Given the description of an element on the screen output the (x, y) to click on. 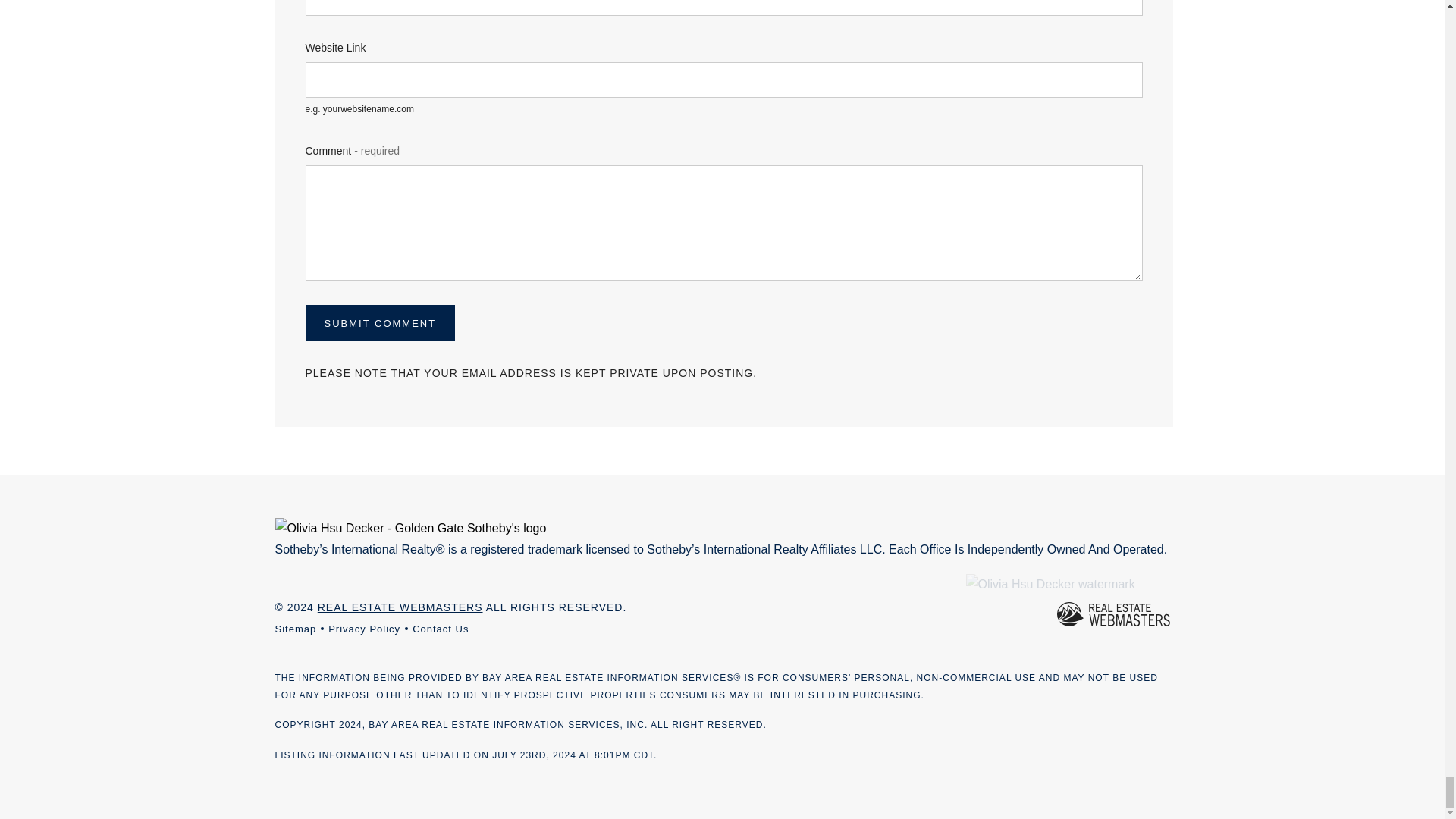
Privacy Policy (364, 628)
Sitemap (295, 628)
REAL ESTATE WEBMASTERS (400, 607)
Contact Us (440, 628)
SUBMIT COMMENT (379, 322)
